Given the description of an element on the screen output the (x, y) to click on. 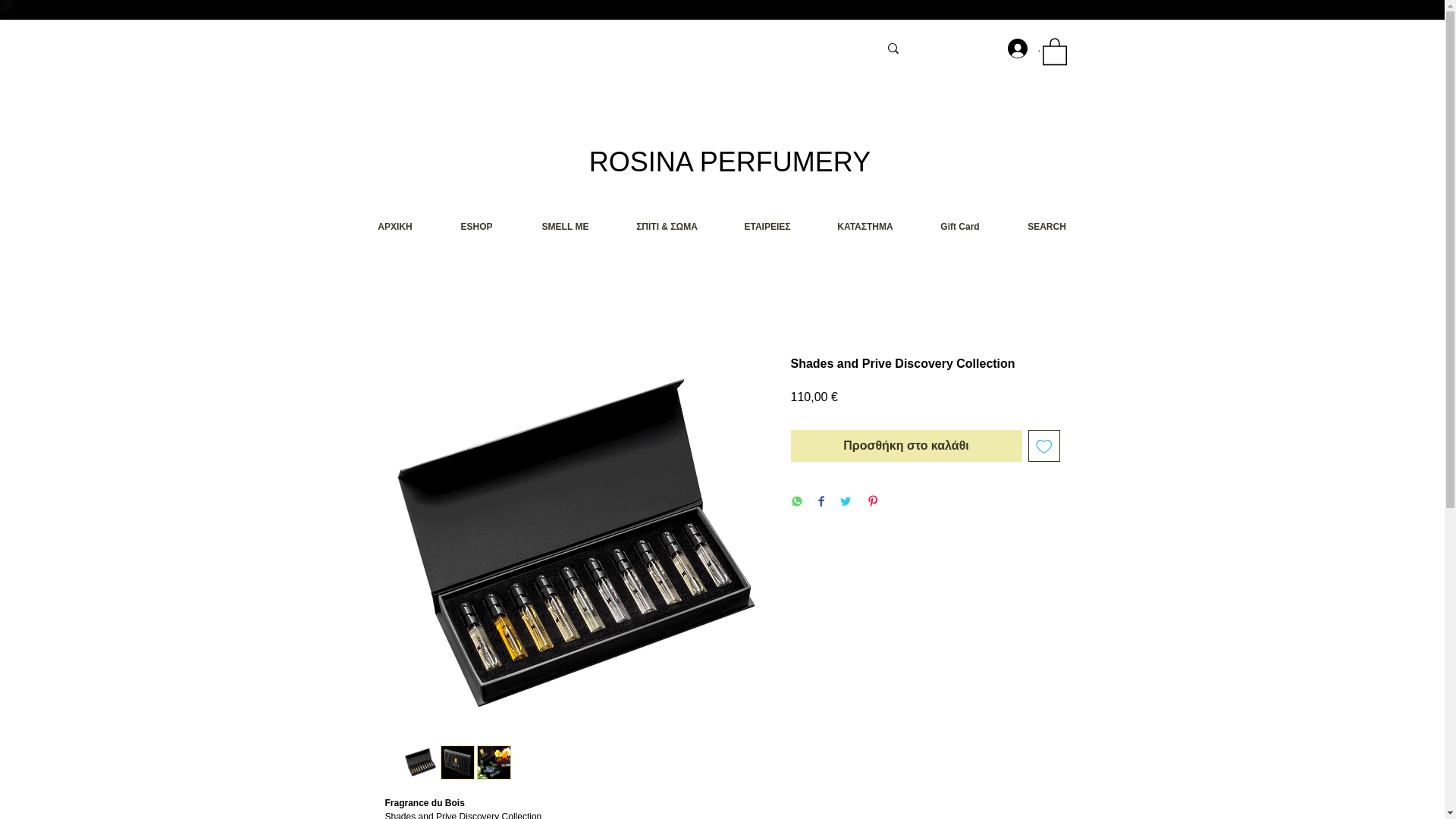
ESHOP (475, 226)
ROSINA PERFUMERY (729, 161)
. (1013, 48)
